Given the description of an element on the screen output the (x, y) to click on. 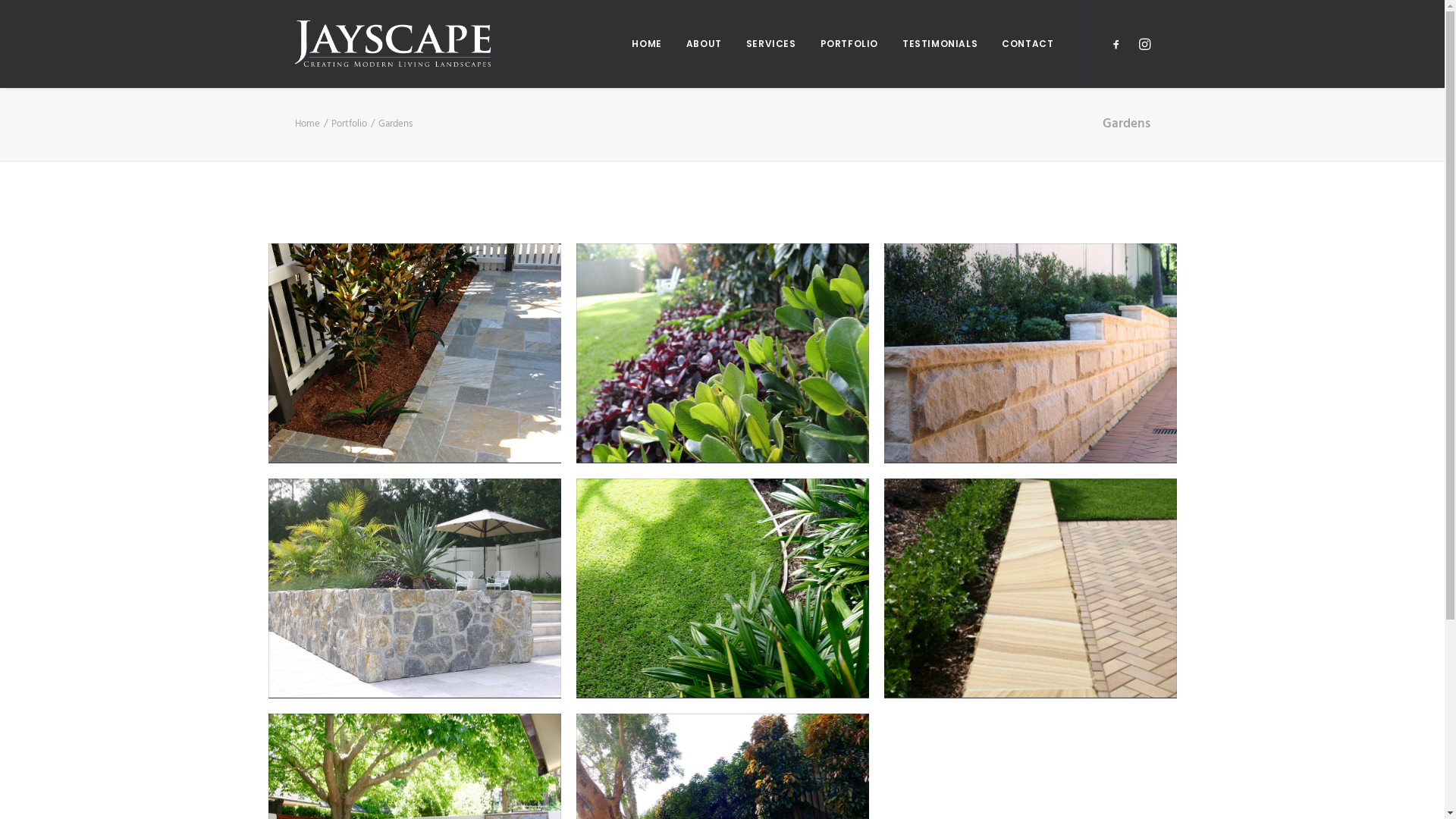
TESTIMONIALS Element type: text (939, 43)
SERVICES Element type: text (770, 43)
Portfolio Element type: text (348, 123)
HOME Element type: text (646, 43)
PORTFOLIO Element type: text (848, 43)
ABOUT Element type: text (703, 43)
CONTACT Element type: text (1022, 43)
Home Element type: text (306, 123)
